Given the description of an element on the screen output the (x, y) to click on. 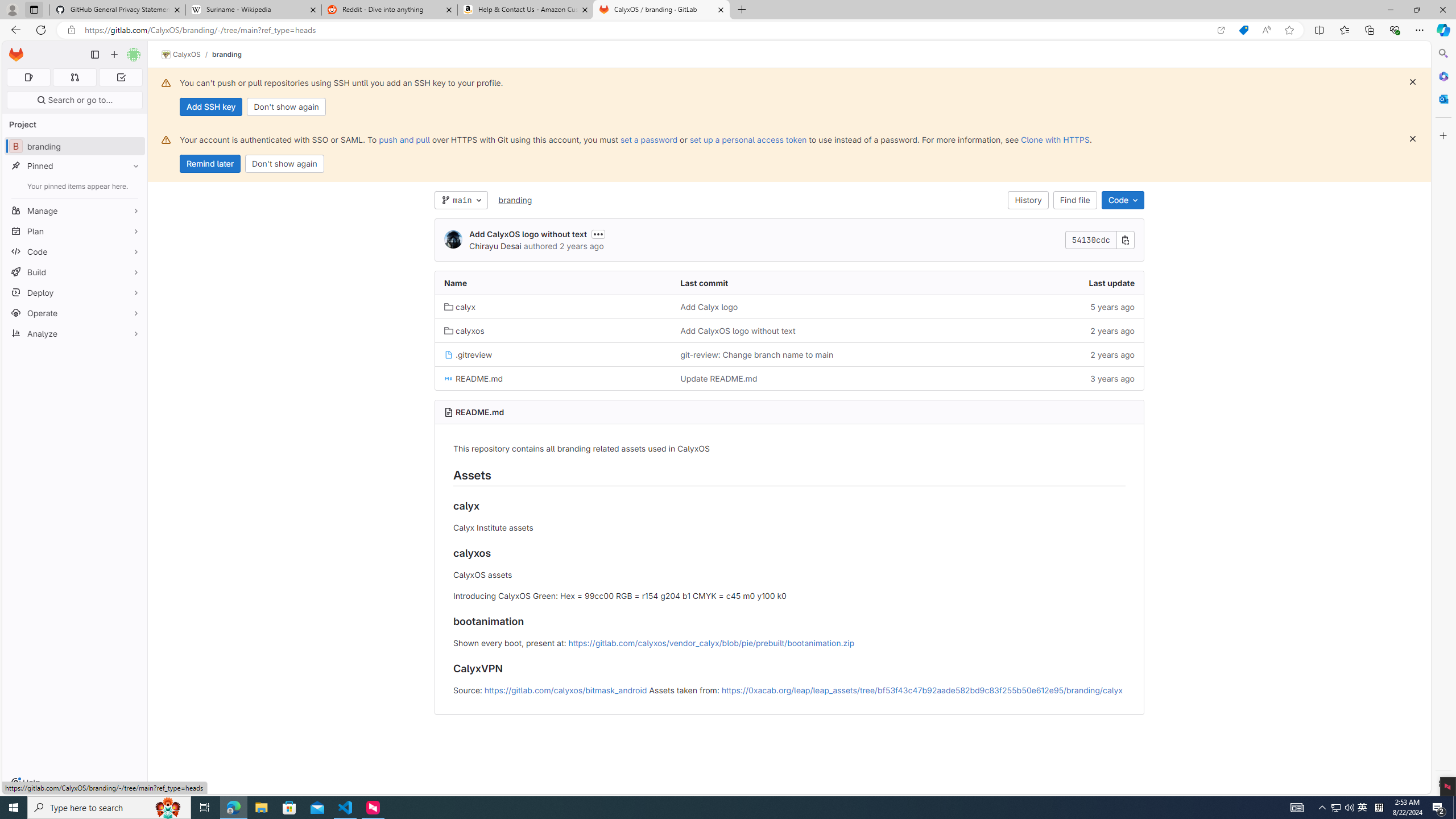
Build (74, 271)
GitHub General Privacy Statement - GitHub Docs (117, 9)
.gitreview (468, 354)
calyx (460, 306)
Deploy (74, 292)
Analyze (74, 333)
Class: tree-item (789, 377)
Chirayu Desai's avatar (453, 239)
3 years ago (1025, 377)
History (1027, 199)
